Given the description of an element on the screen output the (x, y) to click on. 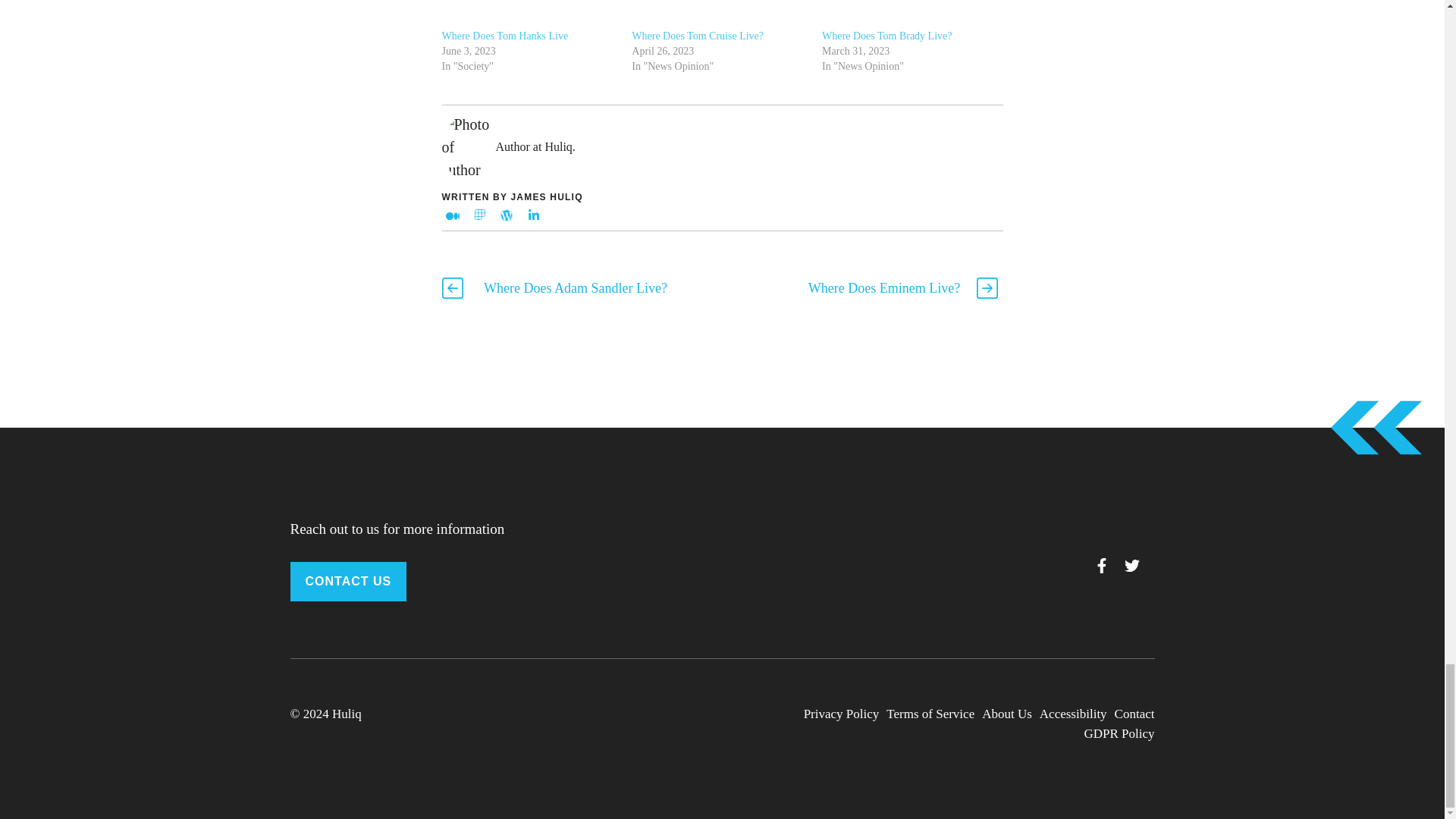
Accessibility (1072, 713)
Where Does Tom Hanks Live (528, 14)
Where Does Tom Cruise Live? (696, 35)
Where Does Tom Brady Live? (887, 35)
Terms of Service (930, 713)
CONTACT US (347, 581)
Privacy Policy (841, 713)
Where Does Tom Cruise Live? (696, 35)
Where Does Tom Cruise Live? (718, 14)
Where Does Tom Brady Live? (887, 35)
About Us (1006, 713)
Where Does Tom Hanks Live (504, 35)
Where Does Tom Brady Live? (909, 14)
Where Does Tom Hanks Live (504, 35)
Where Does Eminem Live? (883, 287)
